Given the description of an element on the screen output the (x, y) to click on. 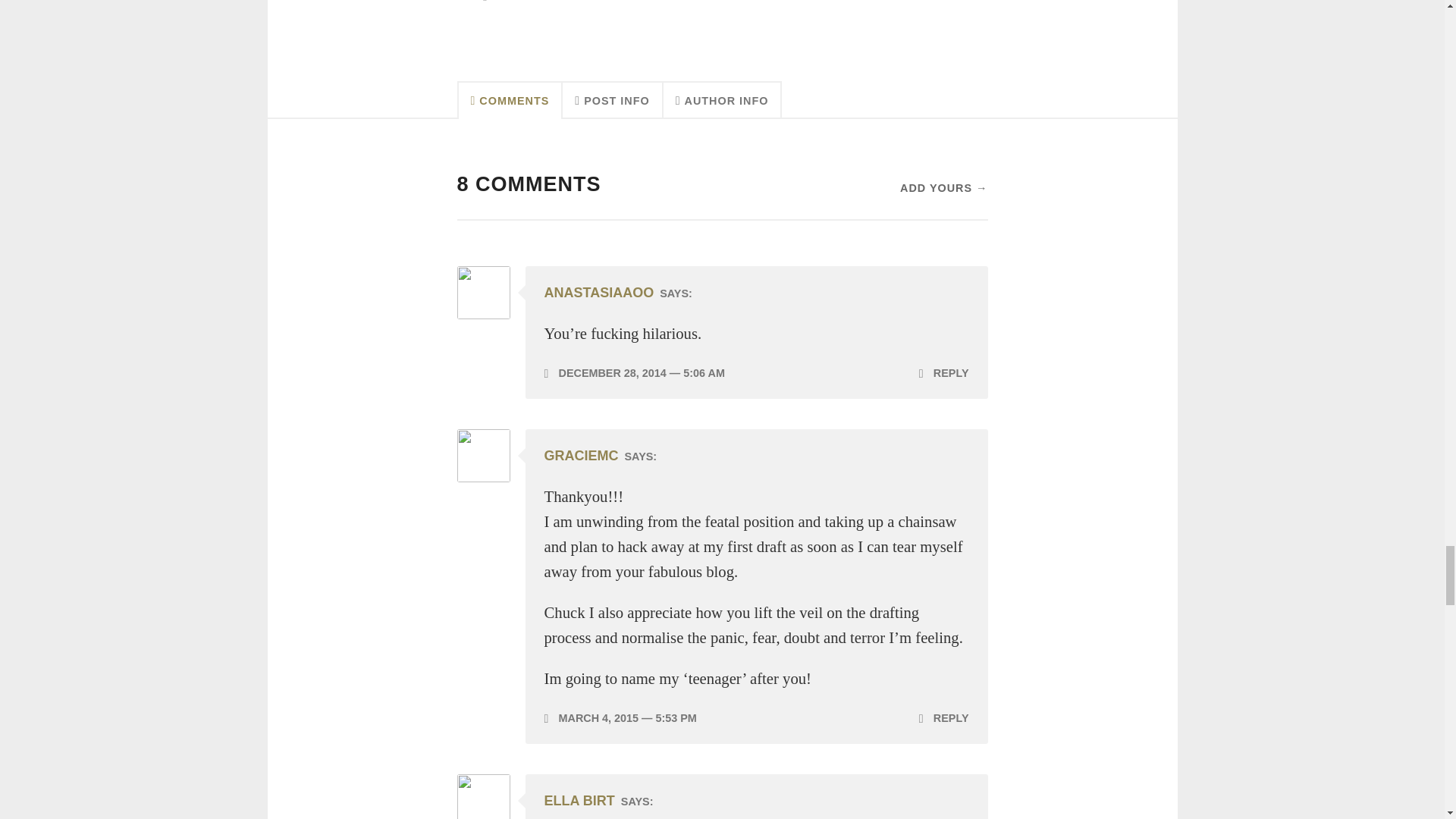
AUTHOR INFO (723, 99)
GRACIEMC (581, 455)
ELLA BIRT (579, 800)
POST INFO (612, 99)
REPLY (943, 372)
REPLY (943, 717)
ANASTASIAAOO (598, 292)
COMMENTS (509, 99)
